Given the description of an element on the screen output the (x, y) to click on. 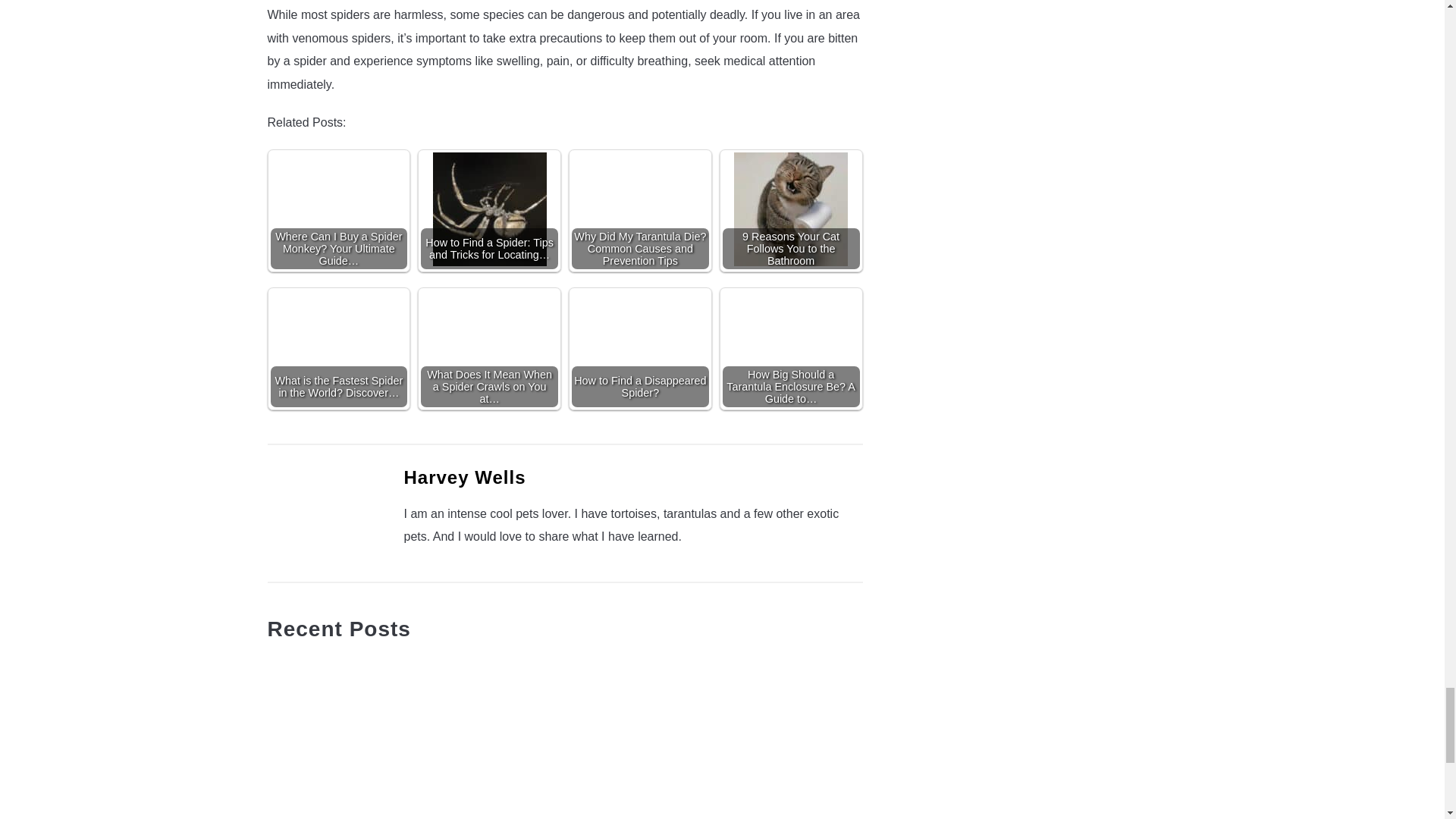
How to Find a Disappeared Spider? (640, 347)
9 Reasons Your Cat Follows You to the Bathroom (790, 209)
Why Did My Tarantula Die? Common Causes and Prevention Tips (640, 209)
